Given the description of an element on the screen output the (x, y) to click on. 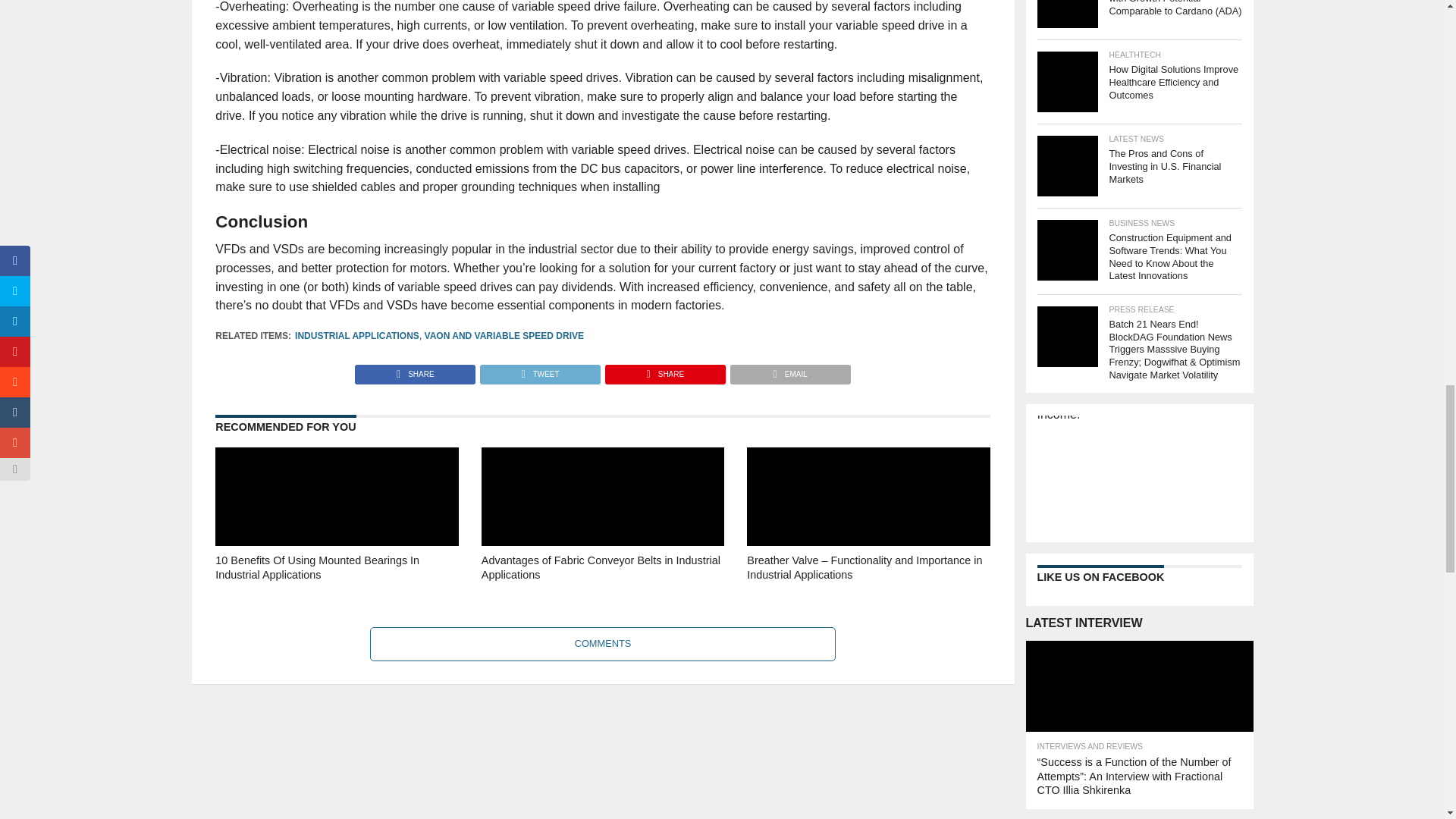
Share on Facebook (415, 369)
Tweet This Post (539, 369)
Pin This Post (664, 369)
